Given the description of an element on the screen output the (x, y) to click on. 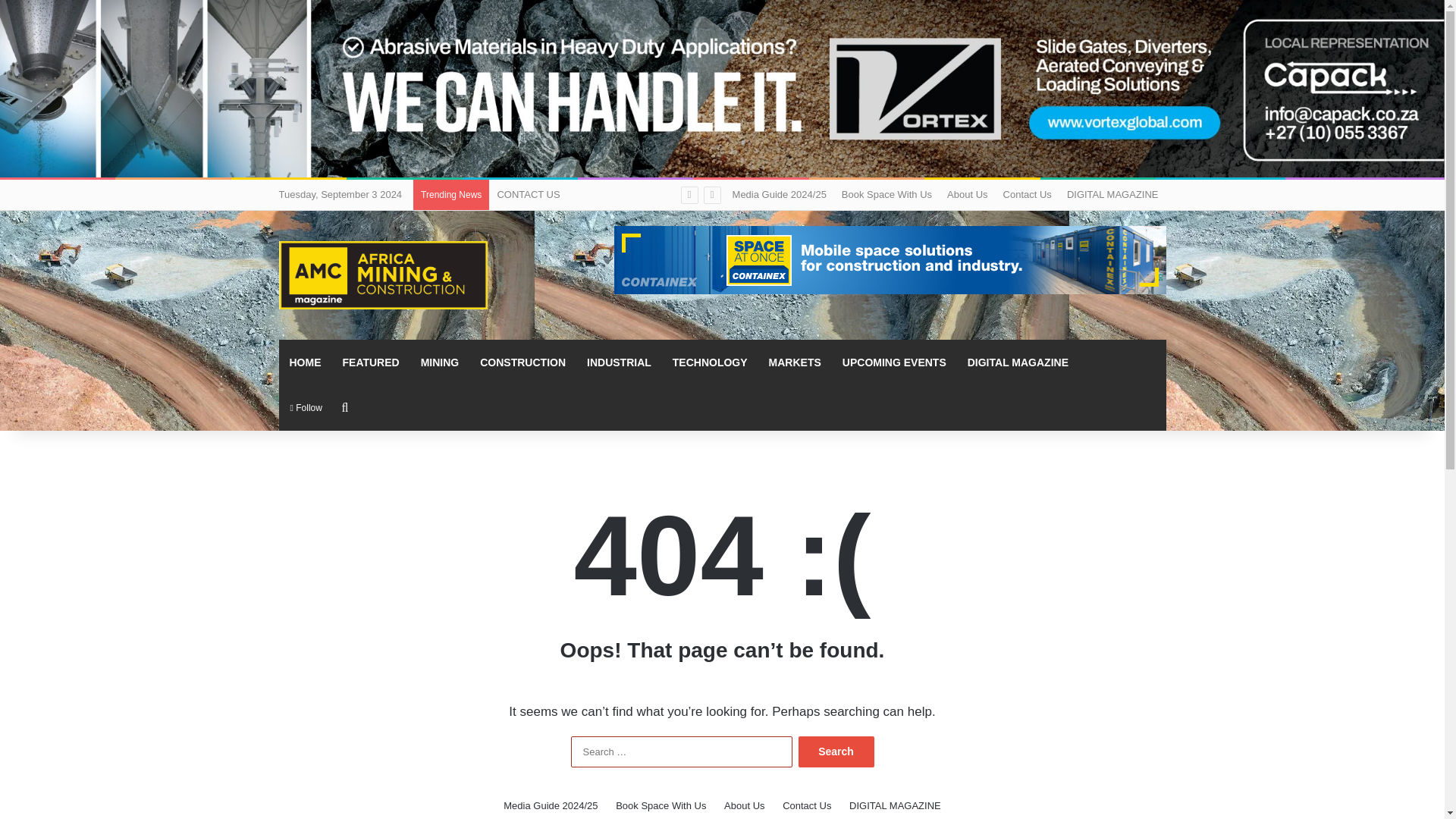
HOME (305, 361)
CONTACT US (527, 194)
Search (835, 751)
Contact Us (1027, 194)
CONSTRUCTION (522, 361)
UPCOMING EVENTS (893, 361)
DIGITAL MAGAZINE (894, 805)
FEATURED (370, 361)
About Us (743, 805)
Contact Us (807, 805)
